Given the description of an element on the screen output the (x, y) to click on. 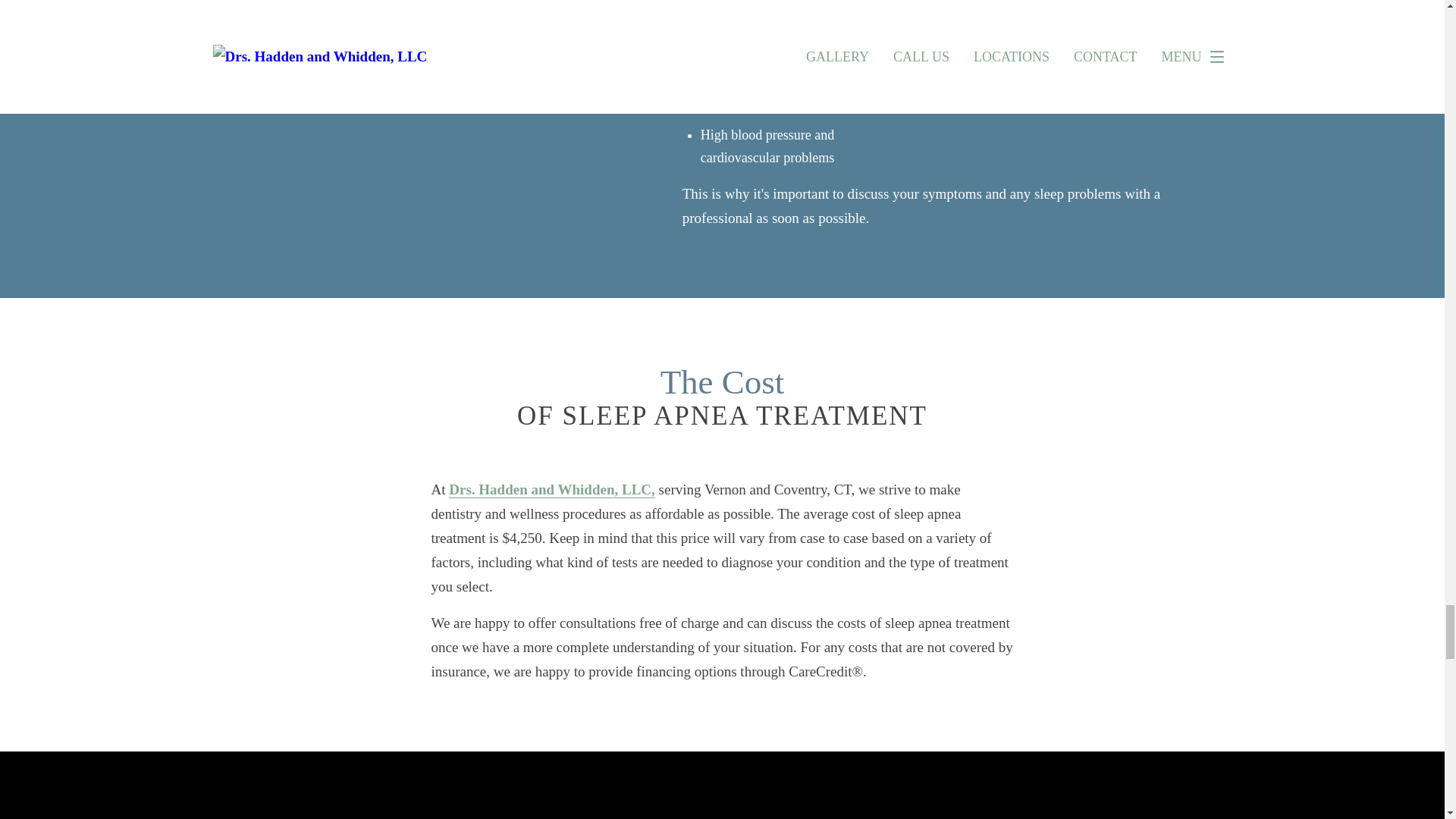
Drs. Hadden and Whidden, LLC, (551, 489)
